Given the description of an element on the screen output the (x, y) to click on. 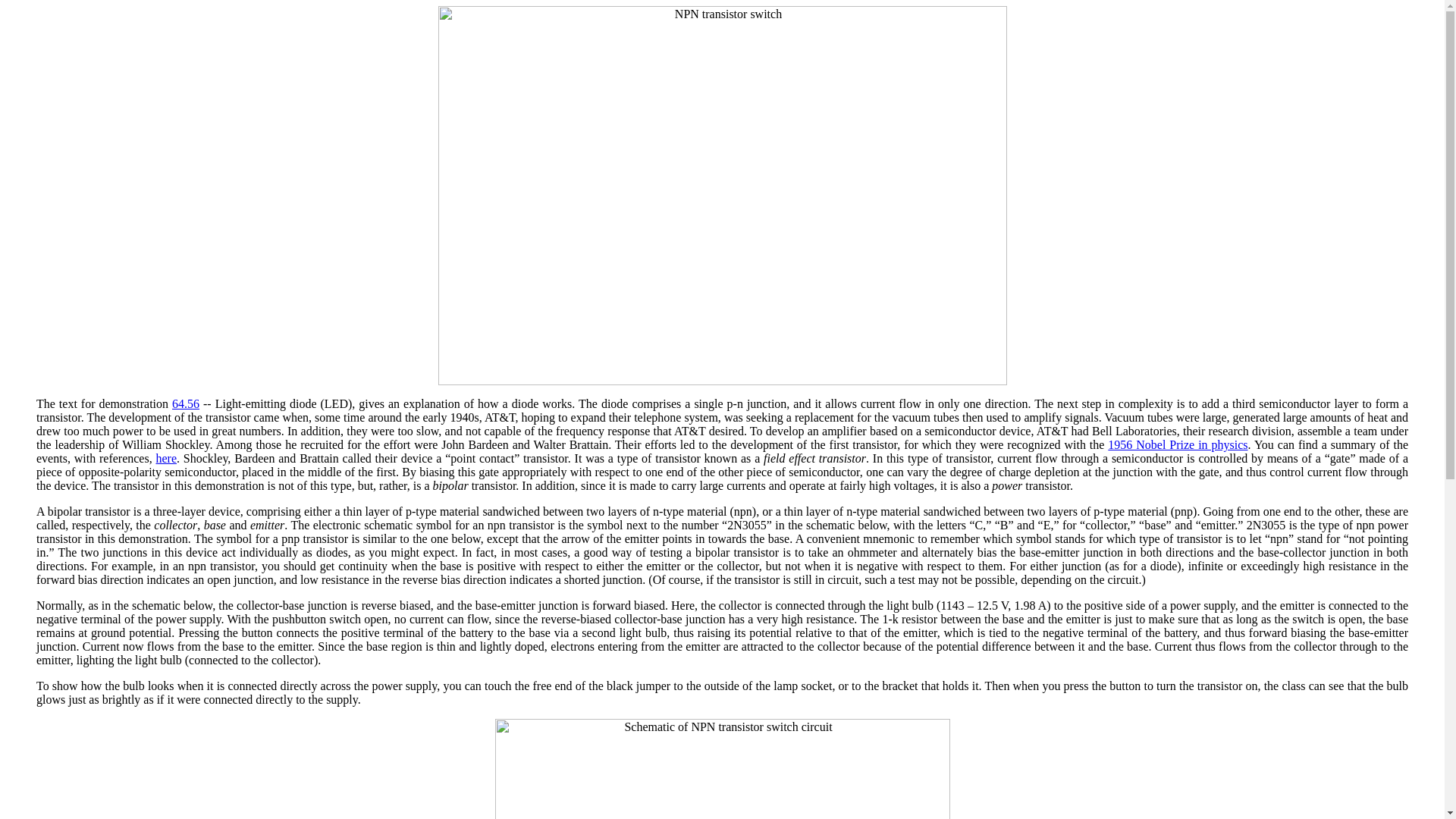
here (165, 458)
64.56 (185, 403)
1956 Nobel Prize in physics (1177, 444)
